Given the description of an element on the screen output the (x, y) to click on. 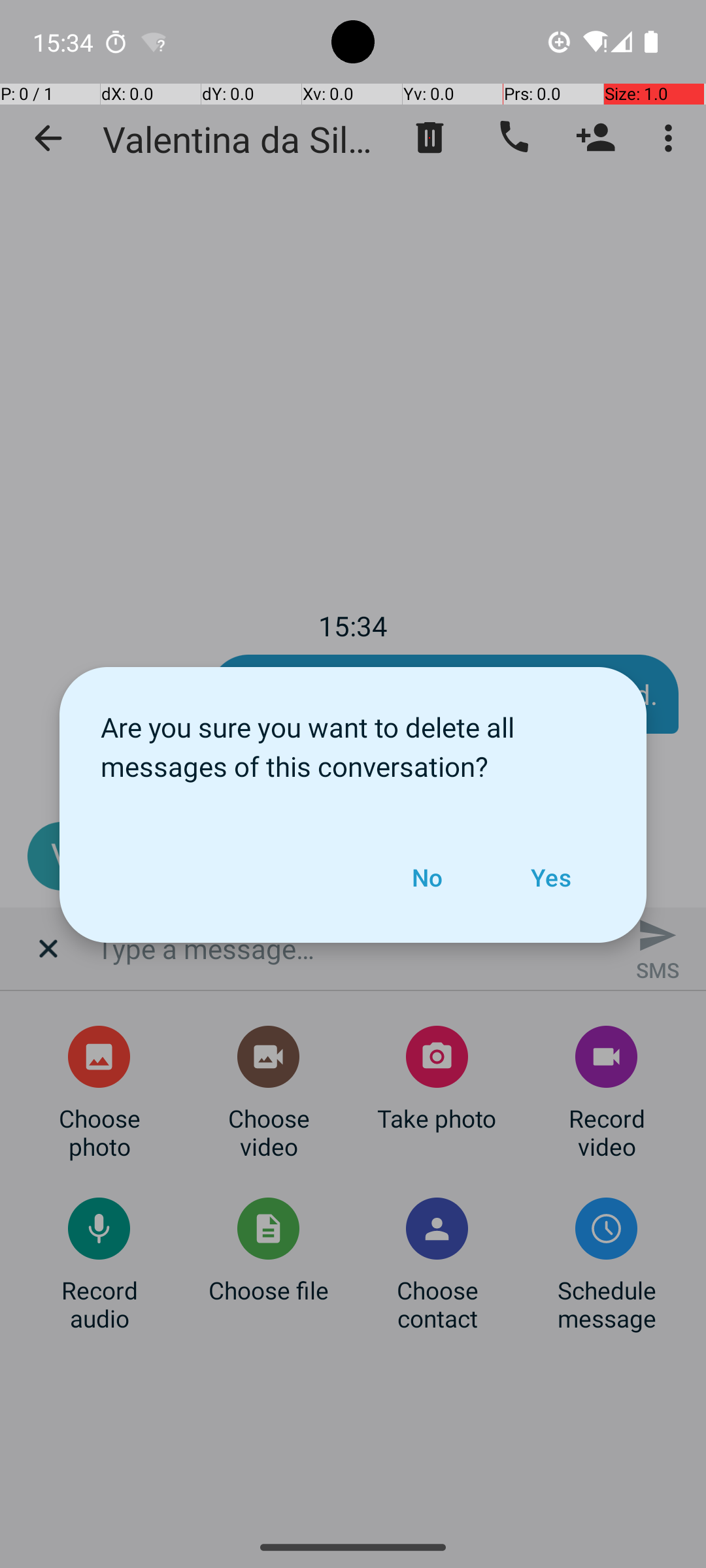
Are you sure you want to delete all messages of this conversation? Element type: android.widget.TextView (352, 739)
